Given the description of an element on the screen output the (x, y) to click on. 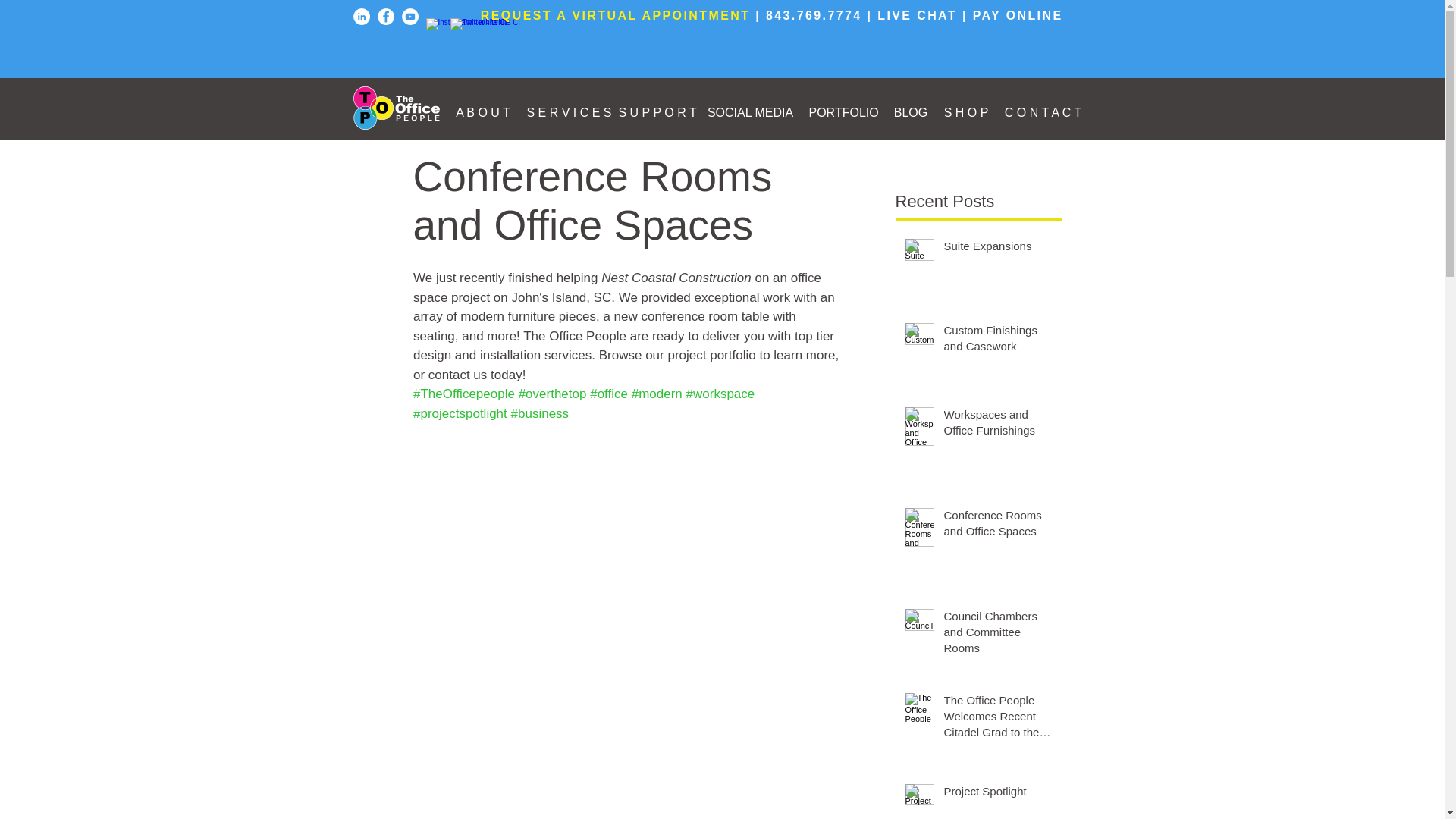
SOCIAL MEDIA (760, 112)
REQUEST A VIRTUAL APPOINTMENT (615, 15)
PAY ONLINE (1017, 15)
LIVE CHAT (916, 15)
S H O P (974, 112)
843.769.7774 (813, 15)
S U P P O R T (662, 112)
C O N T A C T (1050, 112)
BLOG (920, 112)
PORTFOLIO (853, 112)
